Given the description of an element on the screen output the (x, y) to click on. 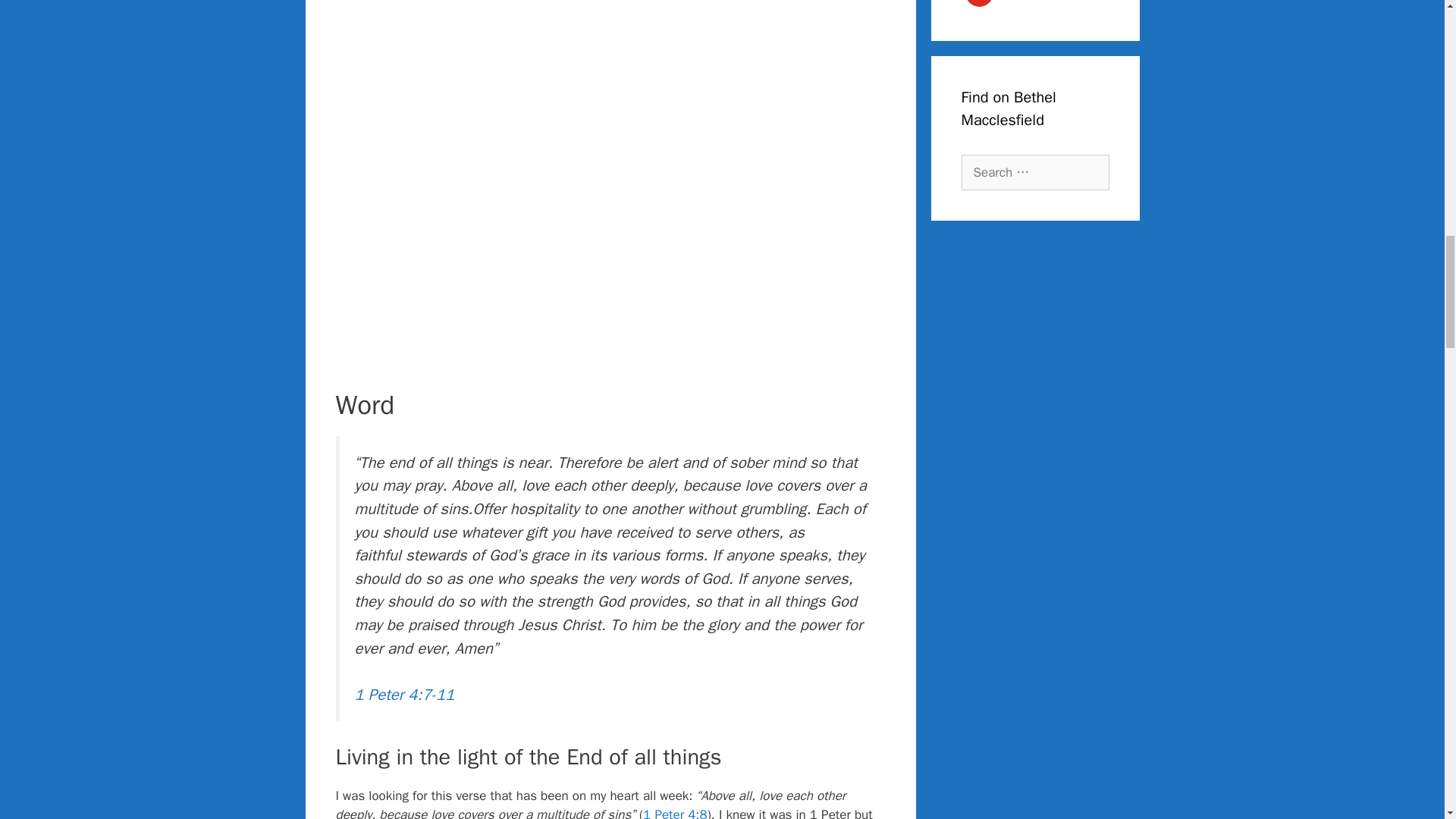
1 Peter 4:8 (675, 812)
Search for: (1034, 172)
1 Peter 4:7-11 (404, 694)
Youtube (1034, 5)
